Given the description of an element on the screen output the (x, y) to click on. 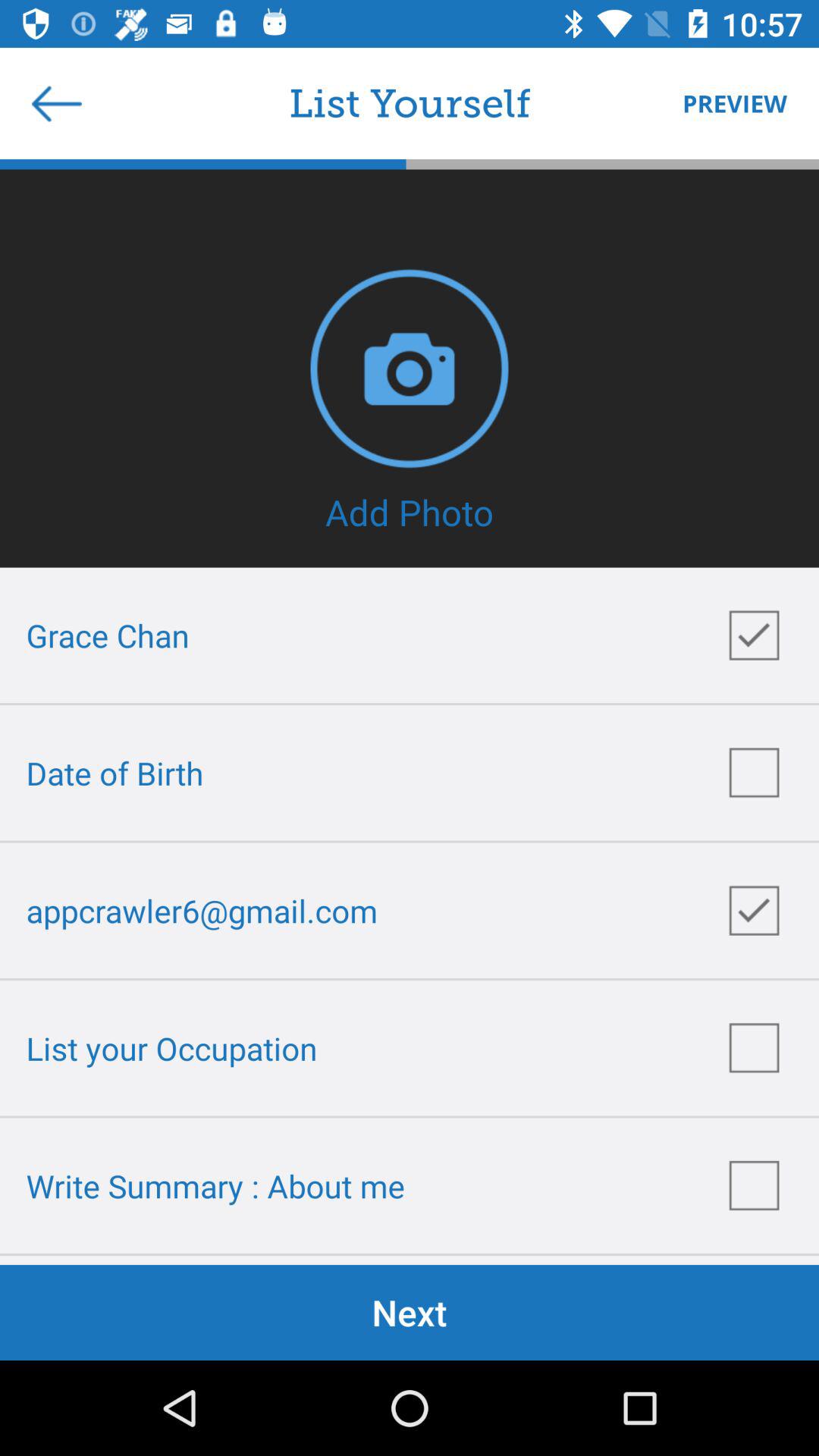
flip until the preview item (727, 103)
